Given the description of an element on the screen output the (x, y) to click on. 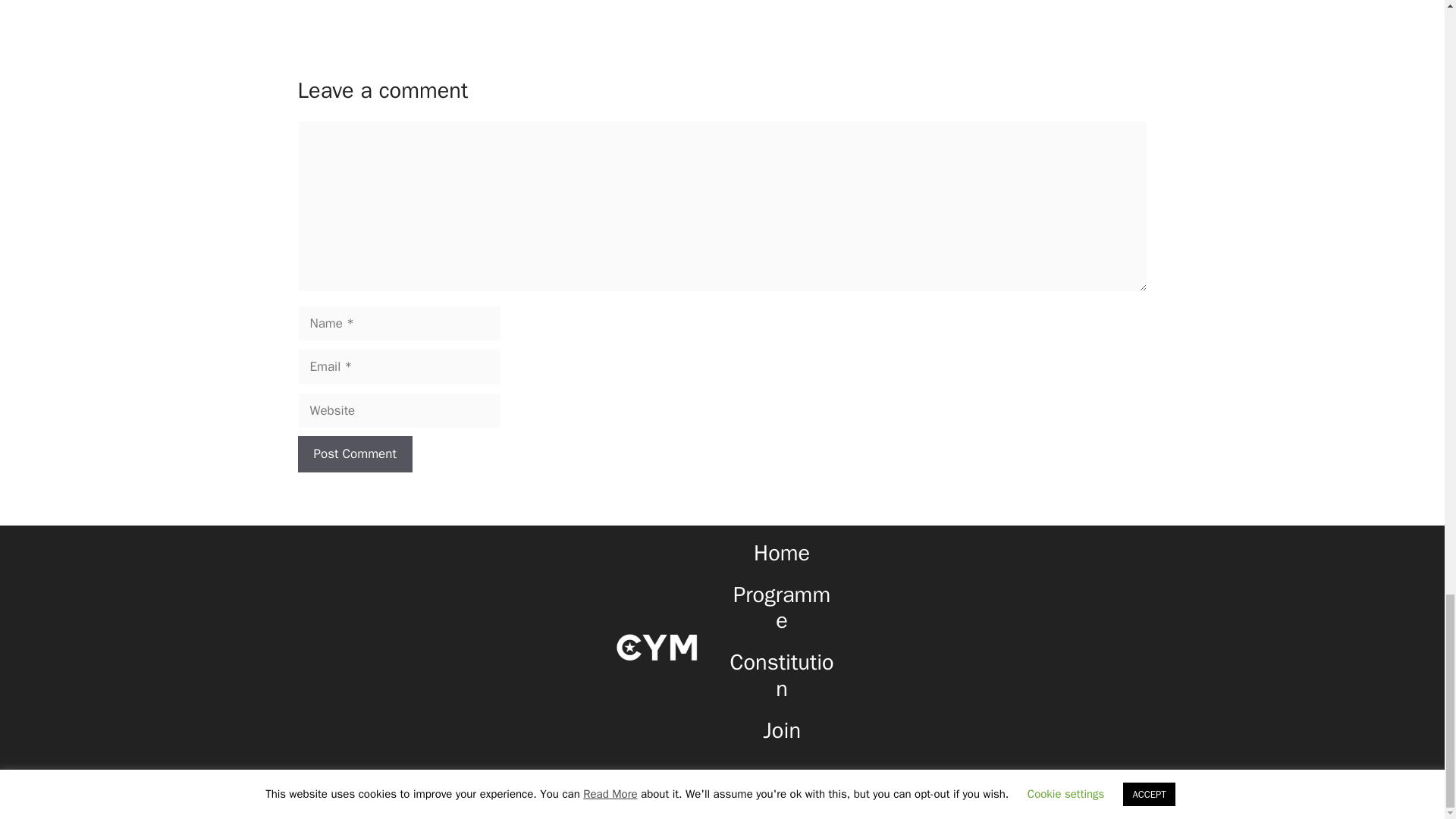
GeneratePress (838, 795)
Programme (781, 607)
Home (781, 552)
Constitution (782, 675)
Post Comment (354, 453)
Join (781, 730)
Post Comment (354, 453)
